Given the description of an element on the screen output the (x, y) to click on. 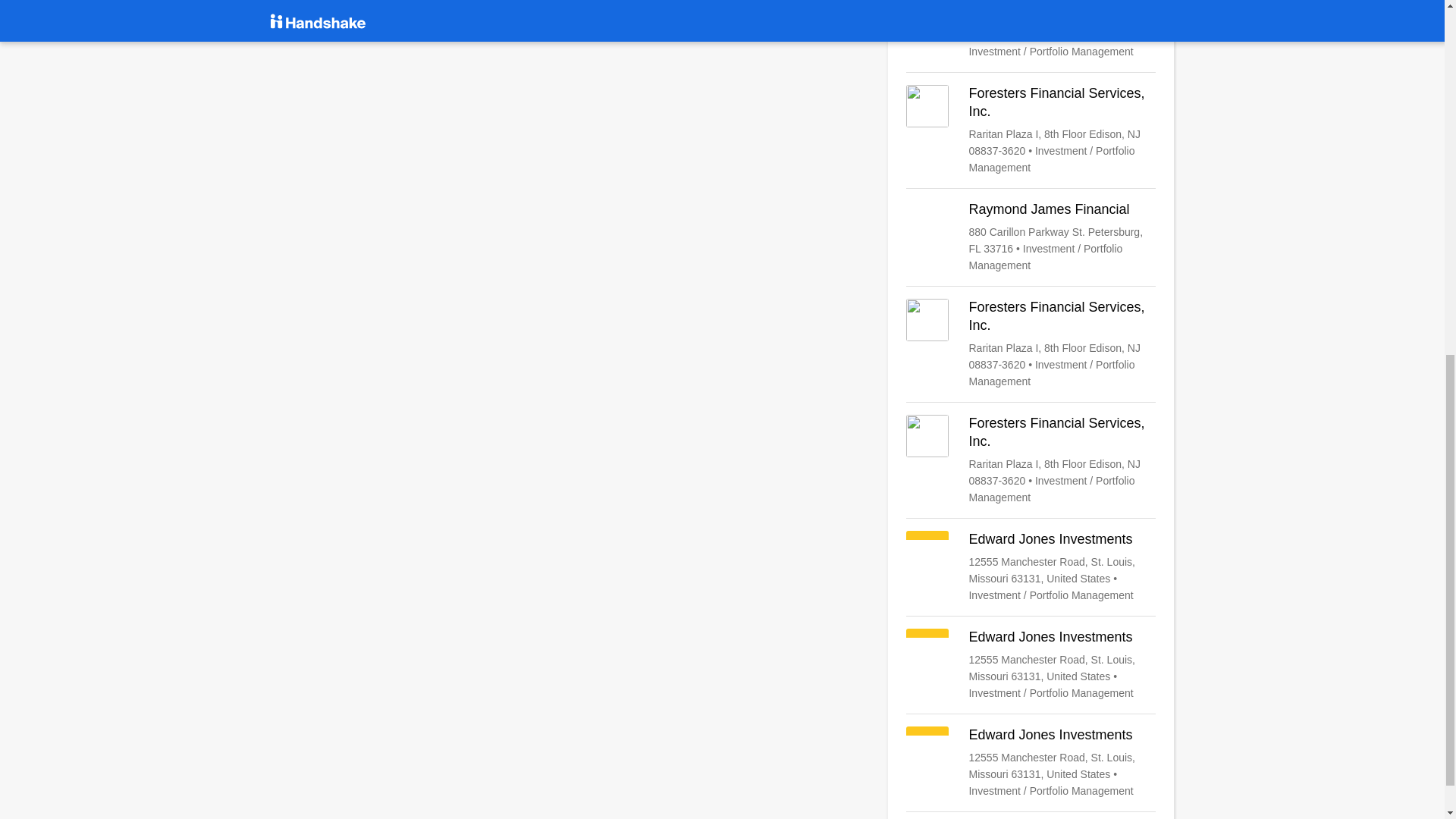
Foresters Financial Services, Inc. (1030, 130)
Raymond James Financial (1030, 236)
Foresters Financial Services, Inc. (1030, 460)
Edward Jones Investments (1030, 566)
Edward Jones Investments (1030, 664)
Edward Jones Investments (1030, 762)
Edward Jones Investments (1030, 30)
Foresters Financial Services, Inc. (1030, 343)
